Given the description of an element on the screen output the (x, y) to click on. 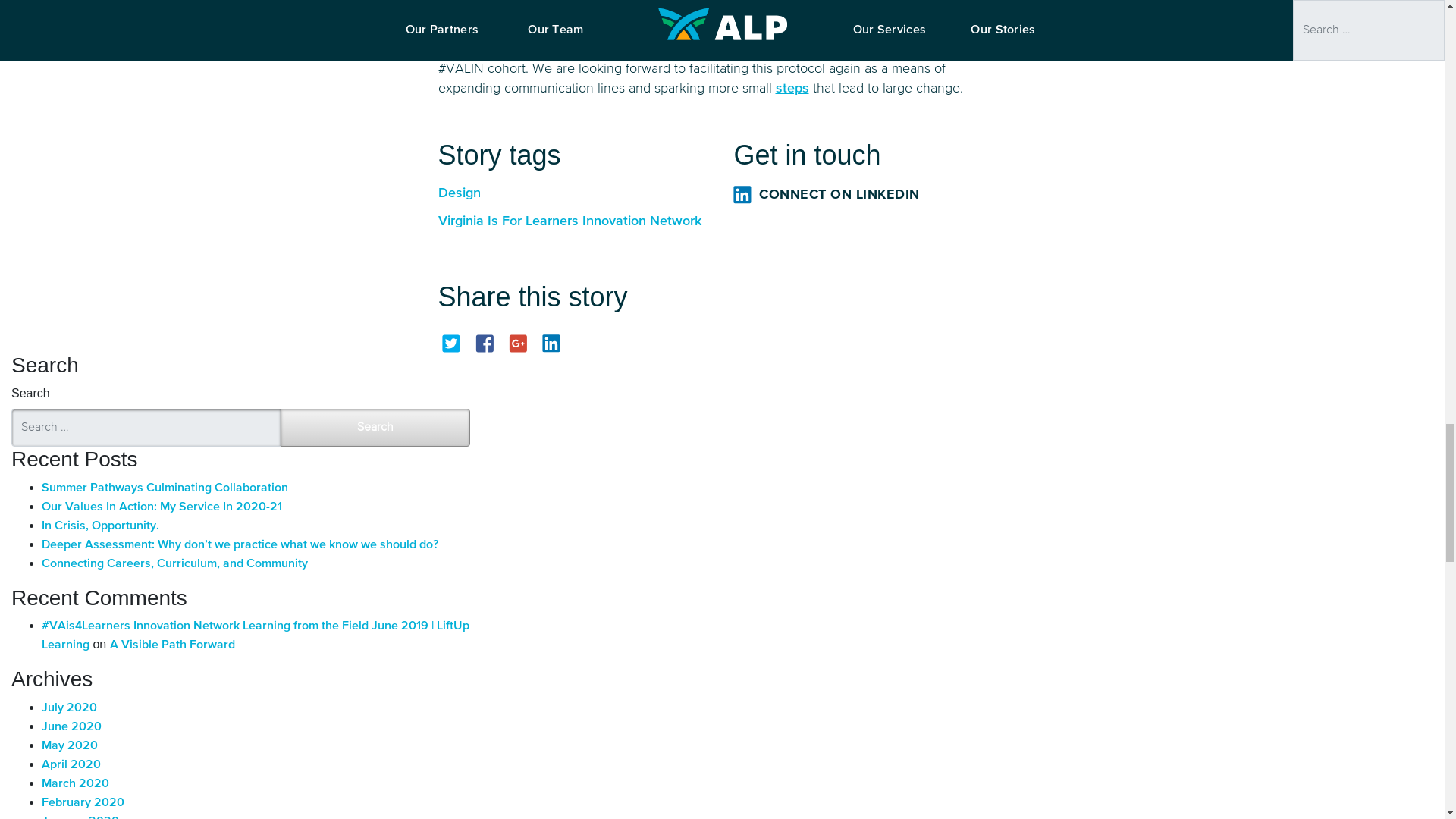
Our Values In Action: My Service In 2020-21 (162, 507)
steps (791, 88)
Connecting Careers, Curriculum, and Community (174, 563)
April 2020 (71, 765)
CONNECT ON LINKEDIN (869, 193)
February 2020 (82, 802)
May 2020 (69, 746)
Summer Pathways Culminating Collaboration (165, 488)
A Visible Path Forward (172, 645)
January 2020 (80, 817)
Design (574, 192)
Search (375, 427)
In Crisis, Opportunity. (100, 526)
July 2020 (69, 707)
June 2020 (71, 727)
